Given the description of an element on the screen output the (x, y) to click on. 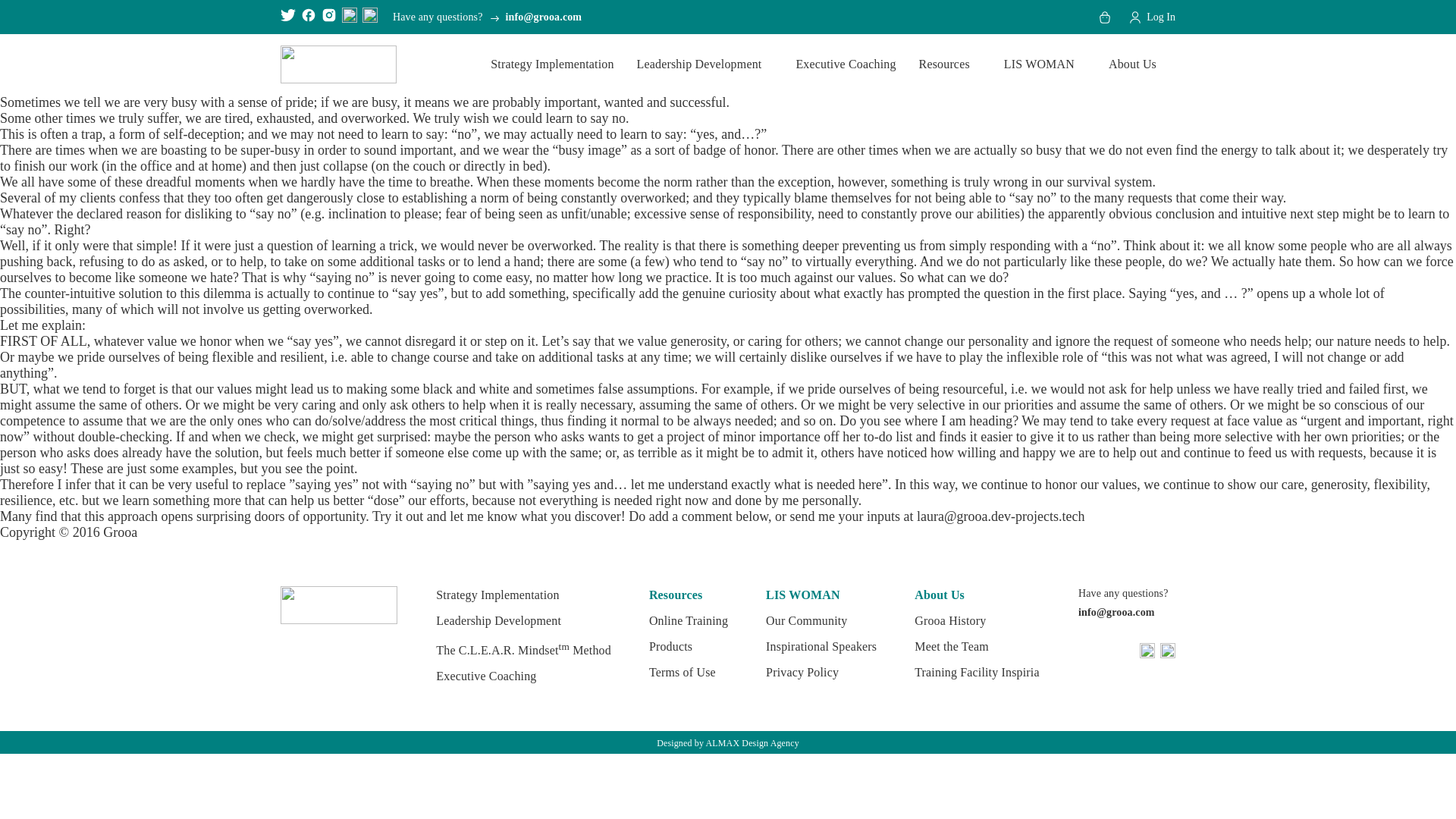
Log In (1150, 16)
LIS WOMAN (1044, 64)
Executive Coaching (844, 64)
About Us (1137, 64)
Resources (949, 64)
Strategy Implementation (552, 64)
Leadership Development (704, 64)
